Given the description of an element on the screen output the (x, y) to click on. 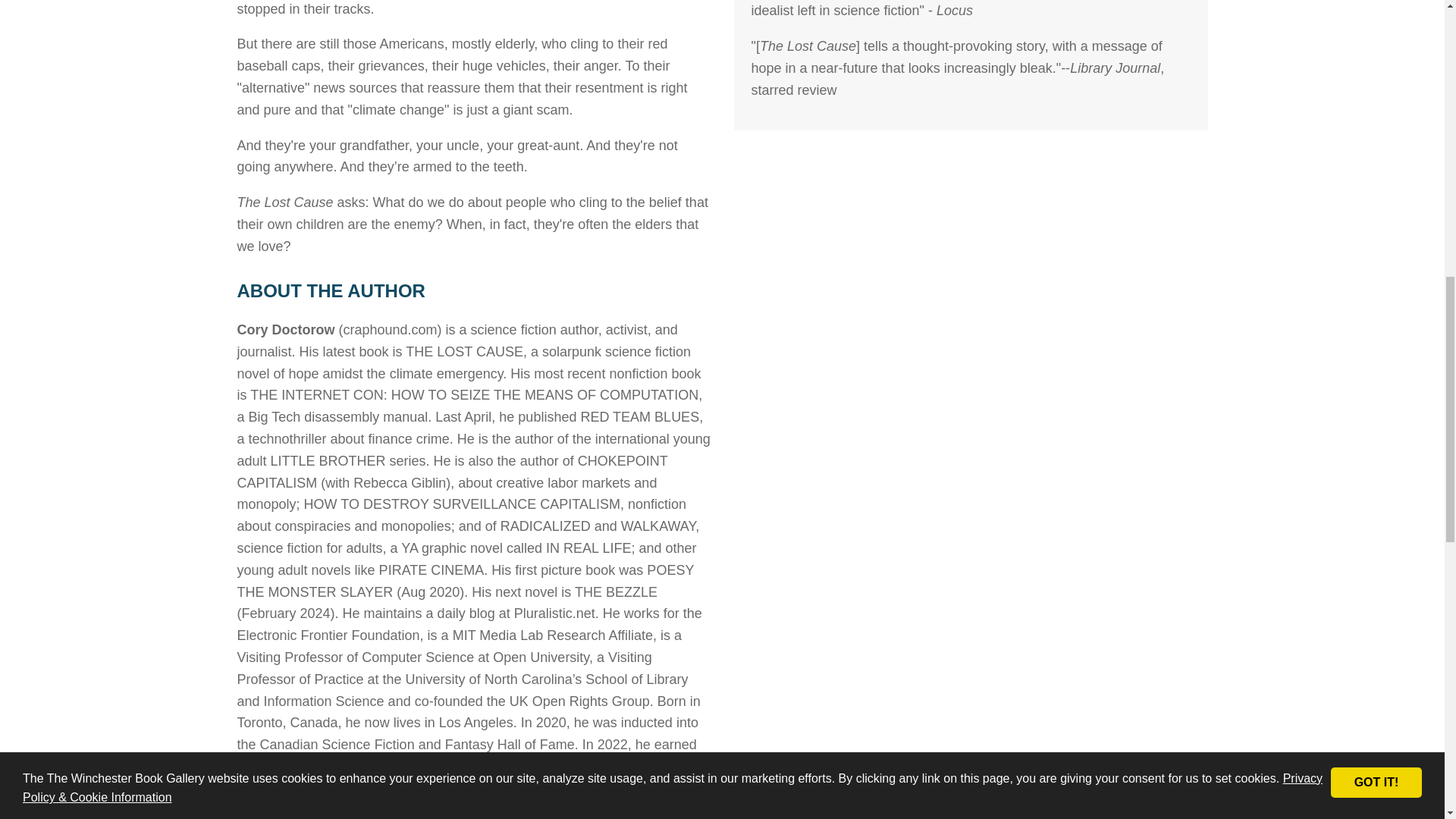
GOT IT! (1376, 55)
